Given the description of an element on the screen output the (x, y) to click on. 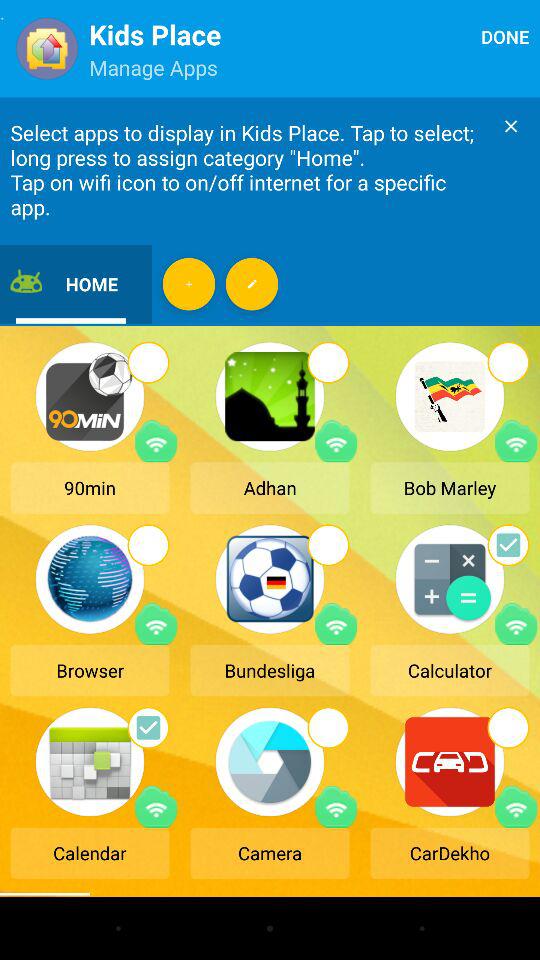
share via (156, 441)
